Given the description of an element on the screen output the (x, y) to click on. 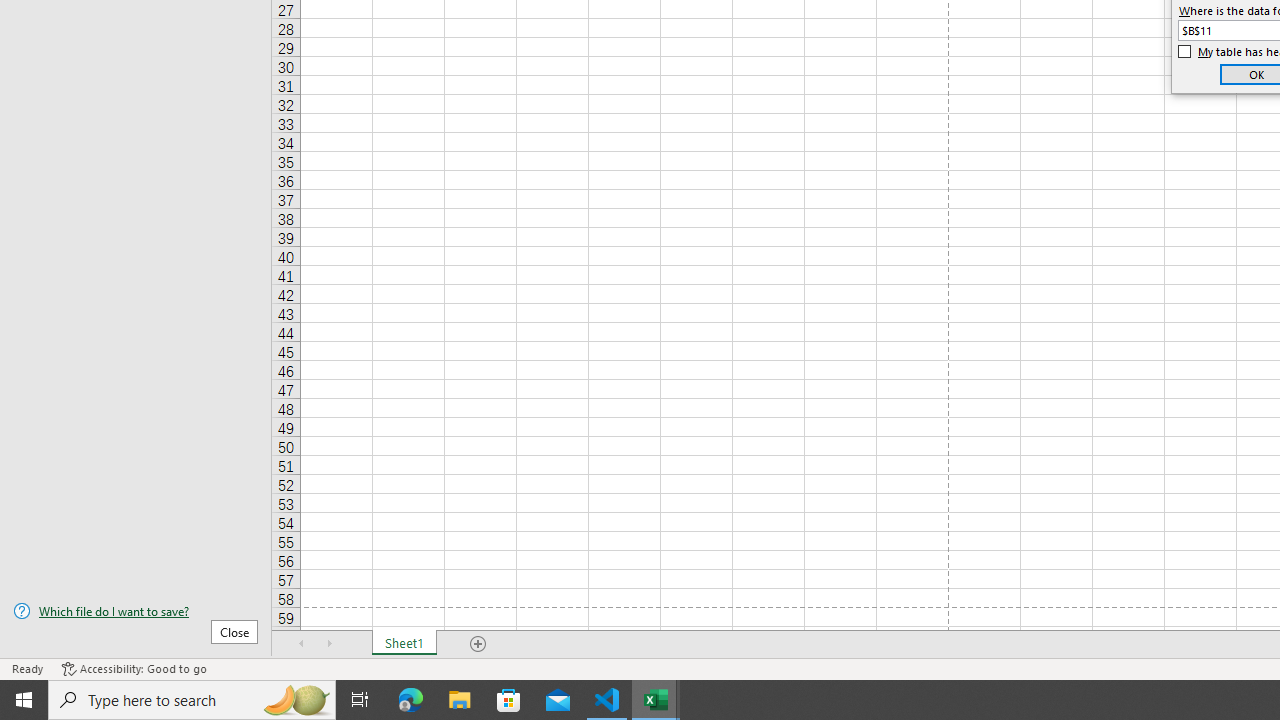
Accessibility Checker Accessibility: Good to go (134, 668)
Scroll Left (302, 644)
Sheet1 (404, 644)
Which file do I want to save? (136, 611)
Add Sheet (478, 644)
Scroll Right (330, 644)
